Given the description of an element on the screen output the (x, y) to click on. 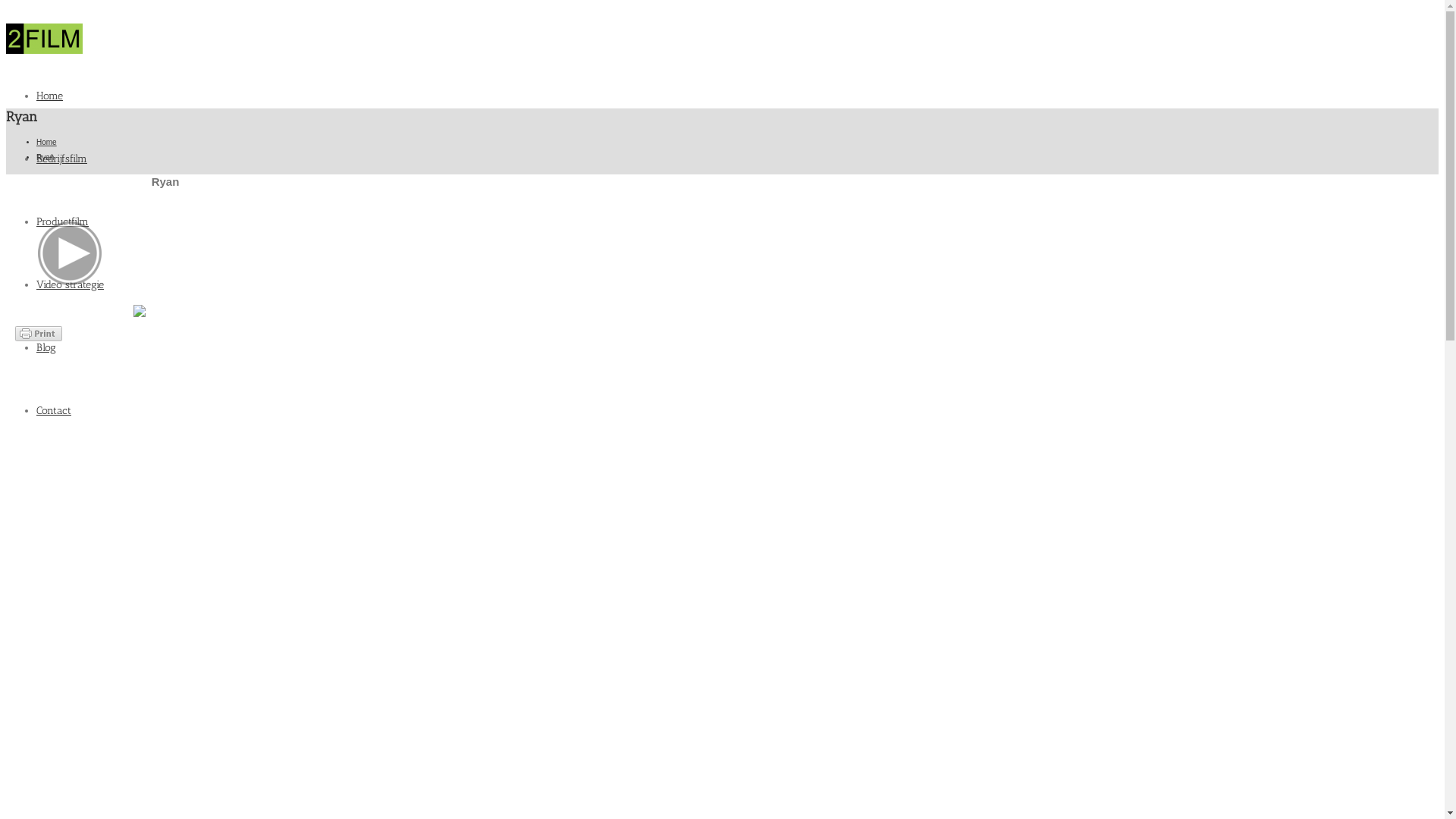
Productfilm Element type: text (62, 221)
Home Element type: text (49, 95)
Bedrijfsfilm Element type: text (61, 158)
Contact Element type: text (53, 410)
Home Element type: text (46, 142)
Video strategie Element type: text (69, 284)
Blog Element type: text (46, 347)
Ryan Element type: hover (75, 313)
